Given the description of an element on the screen output the (x, y) to click on. 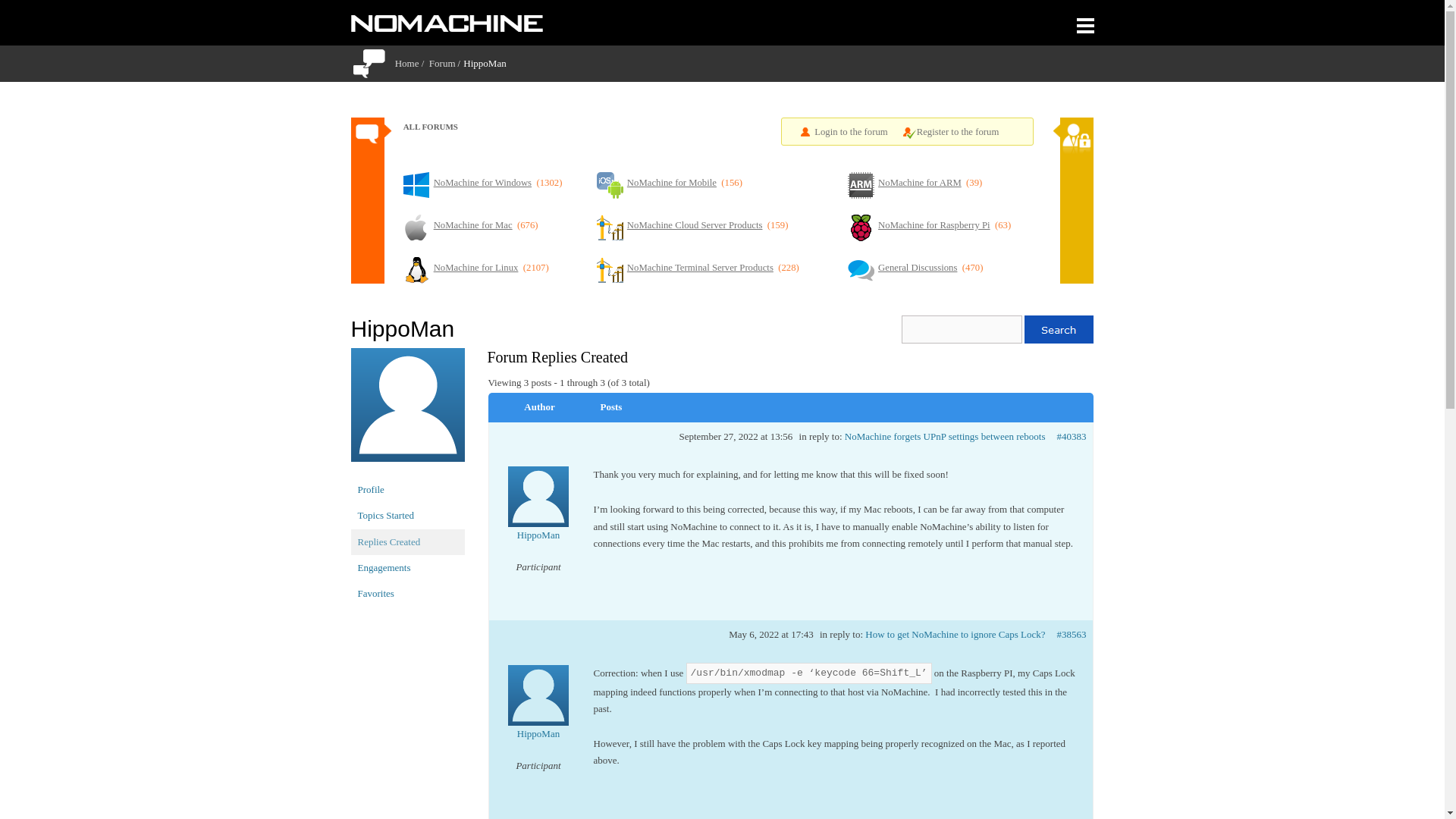
View HippoMan's profile (537, 712)
HippoMan's Engagements (407, 567)
HippoMan's Favorites (407, 593)
HippoMan's Topics Started (407, 515)
View HippoMan's profile (537, 514)
HippoMan's Profile (407, 489)
HippoMan (407, 410)
HippoMan's Replies Created (407, 542)
